Given the description of an element on the screen output the (x, y) to click on. 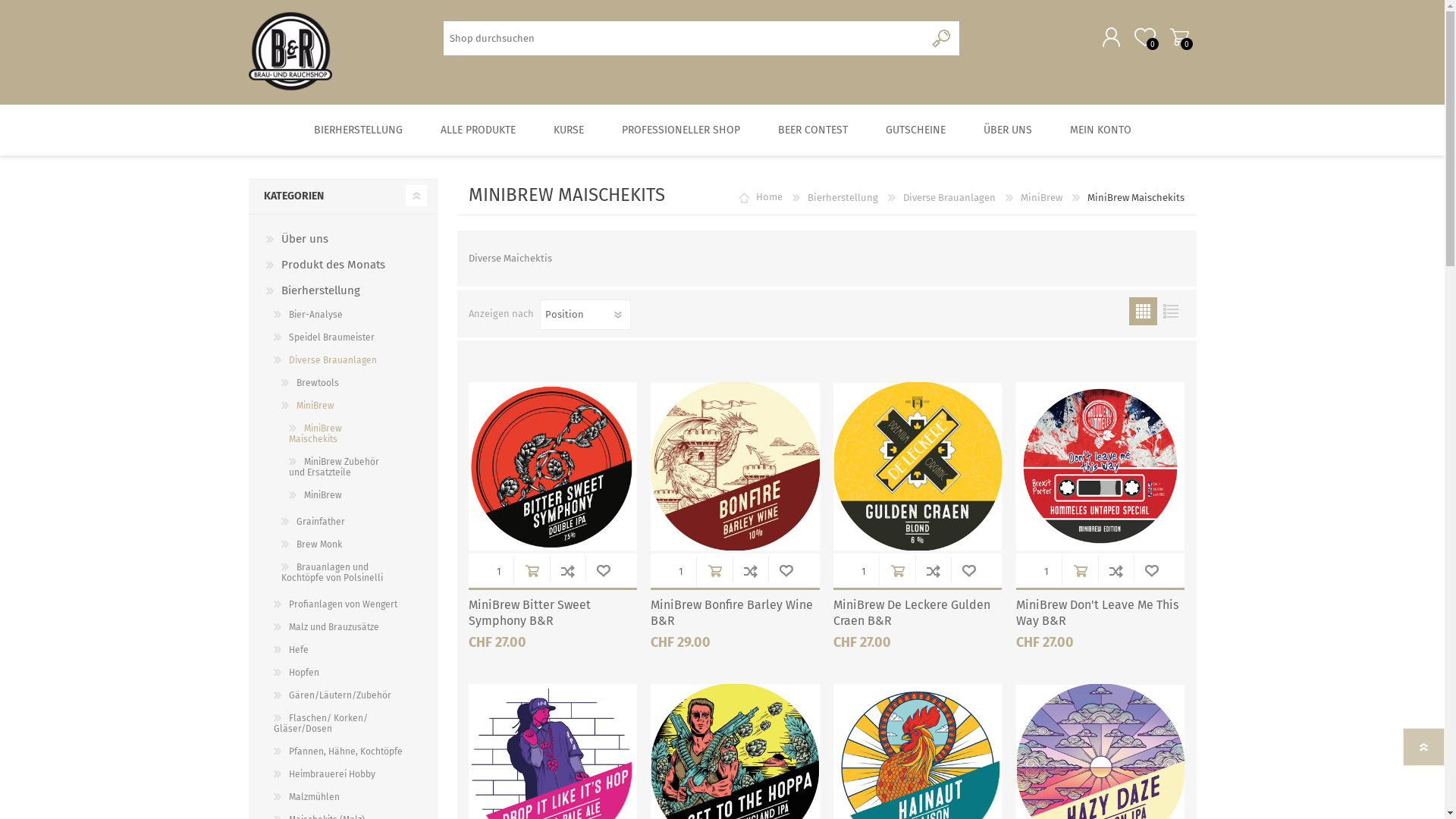
Diverse Brauanlagen Element type: text (325, 359)
Speidel Braumeister Element type: text (323, 337)
Home Element type: text (769, 197)
MiniBrew Bitter Sweet Symphony B&R Element type: text (552, 613)
MEIN KONTO Element type: text (1100, 129)
in Warenkorb Element type: text (531, 570)
BIERHERSTELLUNG Element type: text (357, 129)
Bier-Analyse Element type: text (308, 314)
WUNSCHLISTE Element type: text (785, 570)
MiniBrew Don't Leave Me This Way B&R Element type: text (1100, 613)
Heimbrauerei Hobby Element type: text (324, 773)
MiniBrew Element type: text (307, 405)
MiniBrew De Leckere Gulden Craen B&R Element type: text (917, 613)
MiniBrew Element type: text (315, 494)
PROFESSIONELLER SHOP Element type: text (680, 129)
MiniBrew Maischekits Element type: text (337, 433)
Produkt des Monats Element type: text (325, 264)
Brew Monk Element type: text (311, 544)
in Warenkorb Element type: text (1080, 570)
Bierherstellung Element type: text (842, 197)
Suchen Element type: text (942, 38)
in Warenkorb Element type: text (714, 570)
KURSE Element type: text (567, 129)
WUNSCHLISTE Element type: text (1151, 570)
Liste Element type: text (1171, 311)
Hopfen Element type: text (296, 672)
WUNSCHLISTE Element type: text (968, 570)
BEER CONTEST Element type: text (812, 129)
Diverse Brauanlagen Element type: text (949, 197)
Wunschliste
0 Element type: text (1145, 36)
in Warenkorb Element type: text (897, 570)
Warenkorb Element type: text (1178, 36)
Tabelle Element type: text (1142, 311)
GUTSCHEINE Element type: text (914, 129)
Profianlagen von Wengert Element type: text (335, 604)
WUNSCHLISTE Element type: text (603, 570)
Grainfather Element type: text (313, 521)
Hefe Element type: text (290, 649)
MiniBrew Bonfire Barley Wine B&R Element type: text (734, 613)
Bierherstellung Element type: text (312, 290)
MiniBrew Element type: text (1041, 197)
Brewtools Element type: text (310, 382)
